Given the description of an element on the screen output the (x, y) to click on. 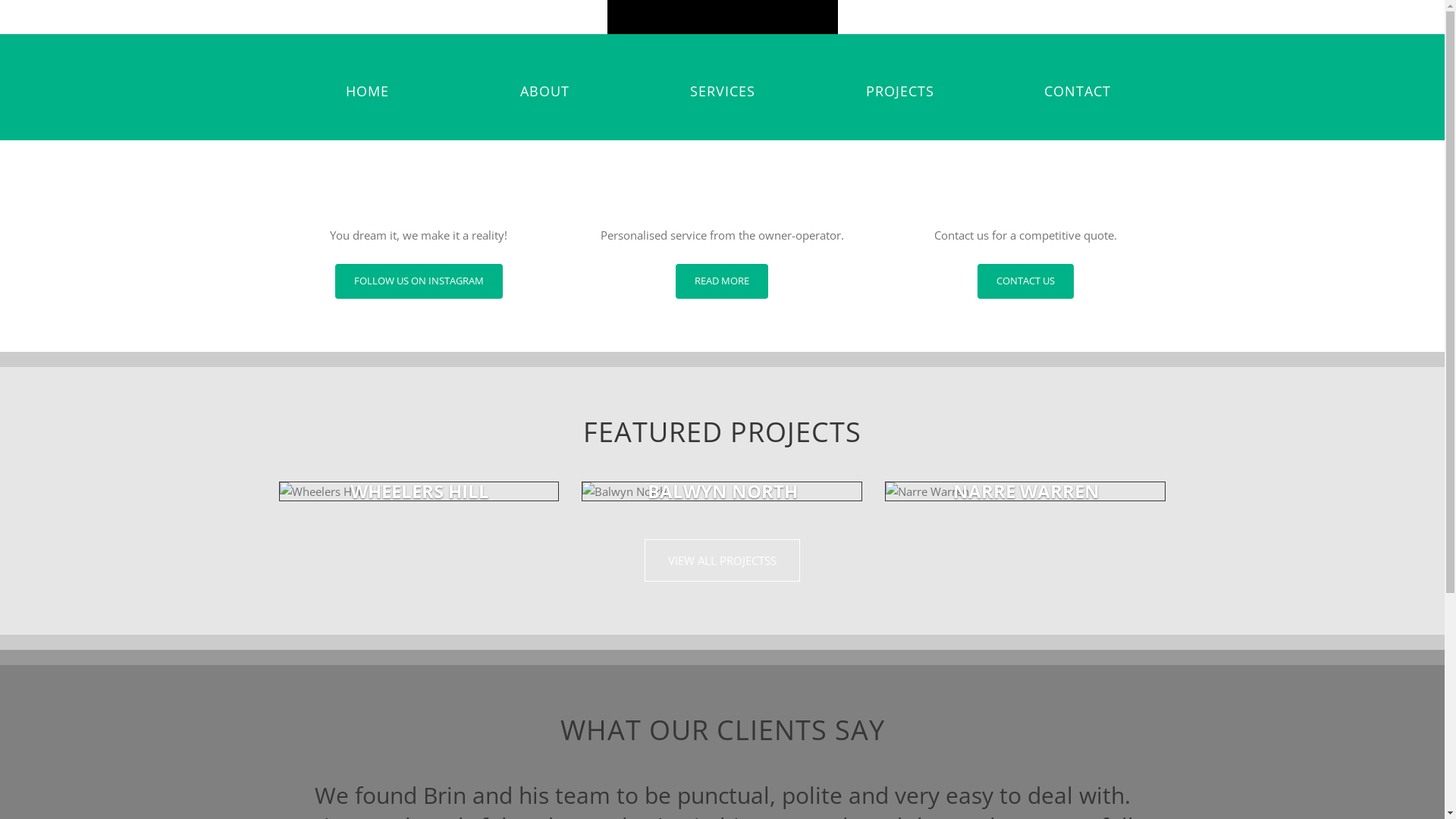
NARRE WARREN Element type: text (1026, 490)
READ MORE Element type: text (721, 280)
PROJECTS Element type: text (899, 90)
WHEELERS HILL Element type: text (419, 490)
Narre Warren  Element type: hover (1024, 491)
HOME Element type: text (367, 90)
CONTACT Element type: text (1077, 90)
CONTACT US Element type: text (1025, 280)
Wheelers Hill  Element type: hover (418, 491)
BALWYN NORTH Element type: text (722, 490)
FOLLOW US ON INSTAGRAM Element type: text (418, 280)
Balwyn North Element type: hover (721, 491)
VIEW ALL PROJECTSS Element type: text (722, 560)
ABOUT Element type: text (544, 90)
SERVICES Element type: text (722, 90)
